Given the description of an element on the screen output the (x, y) to click on. 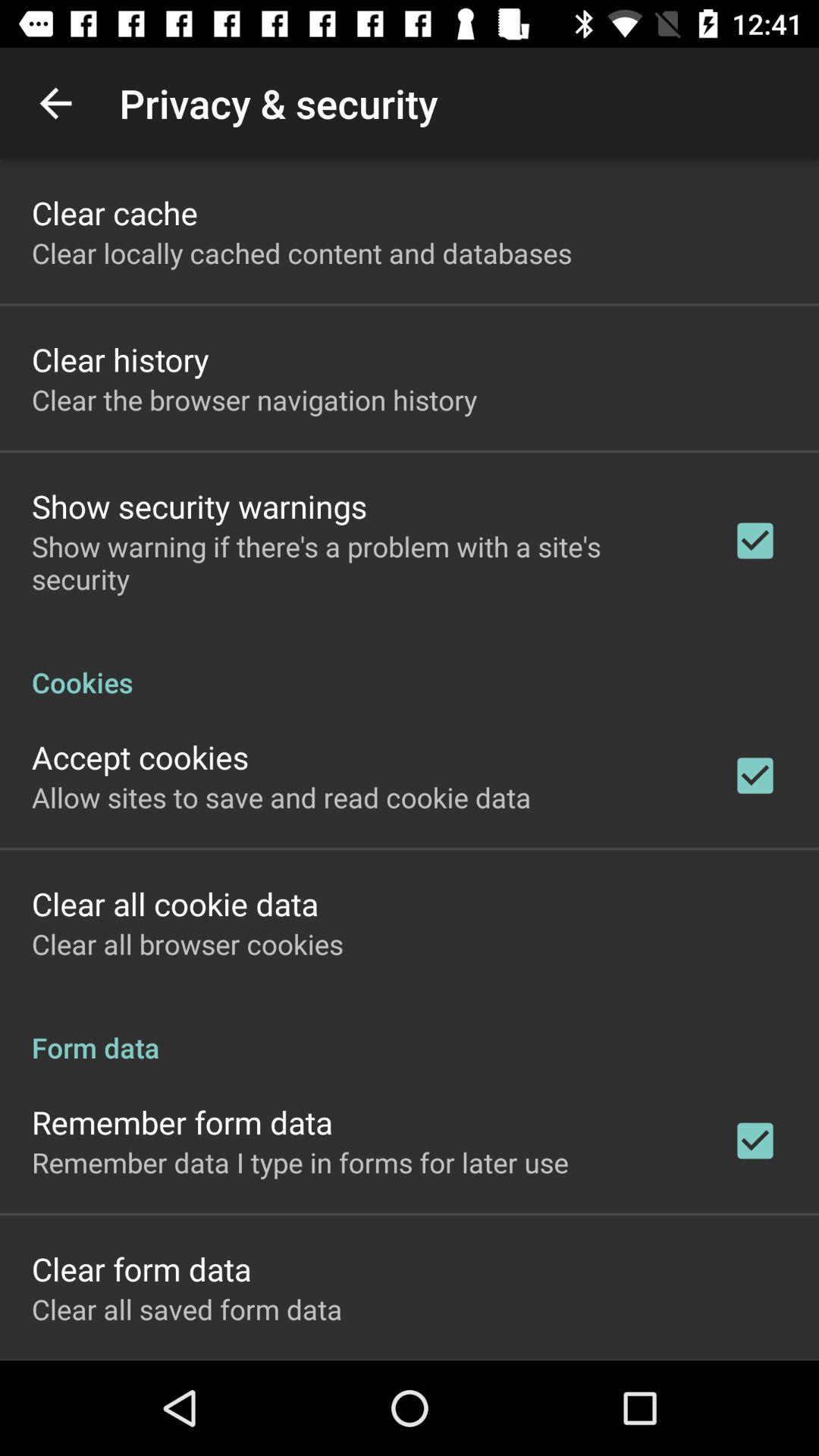
tap the app below the clear cache (301, 252)
